Given the description of an element on the screen output the (x, y) to click on. 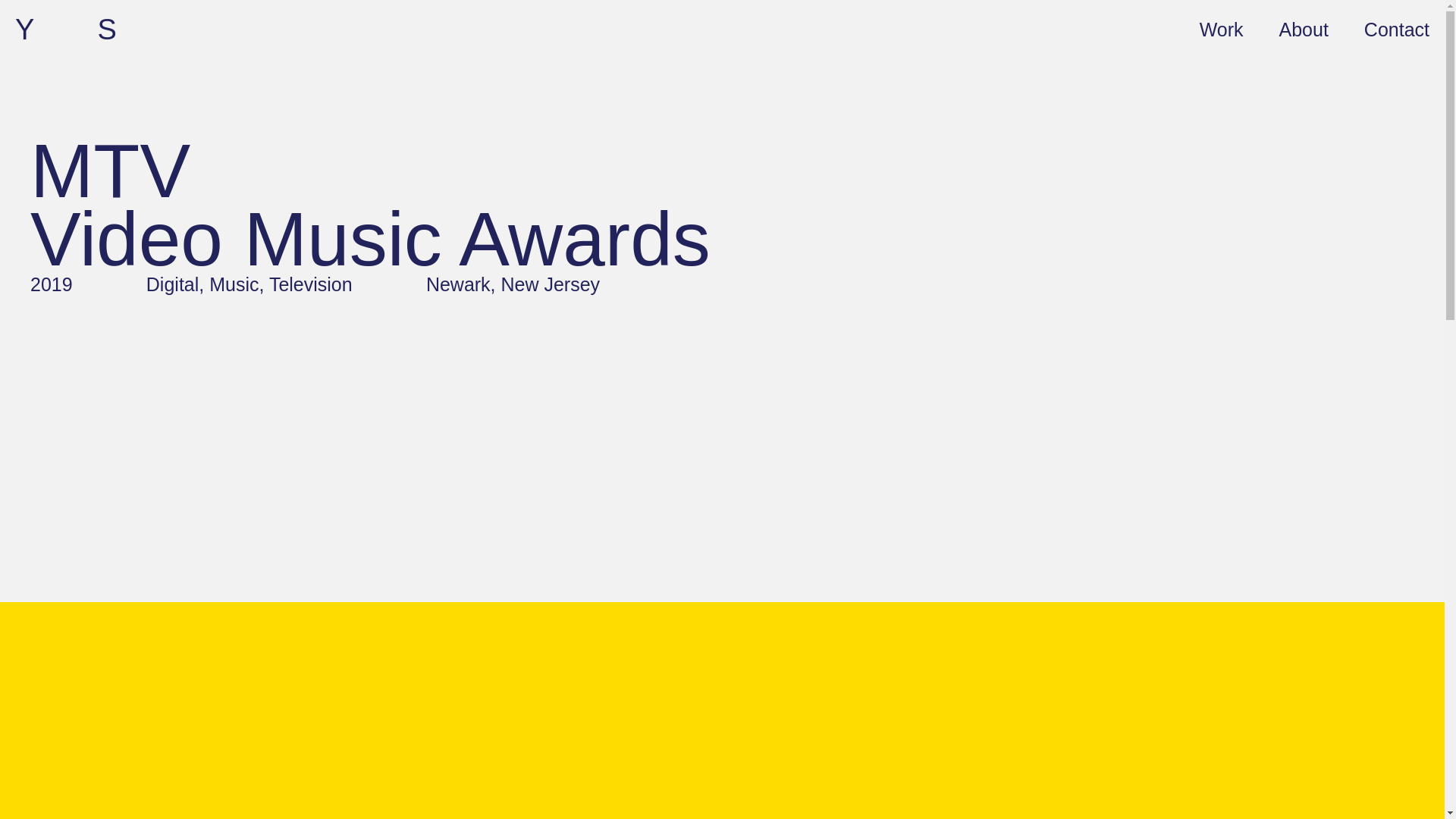
Contact (1396, 28)
YS (96, 29)
Work (1221, 28)
About (1303, 28)
